Given the description of an element on the screen output the (x, y) to click on. 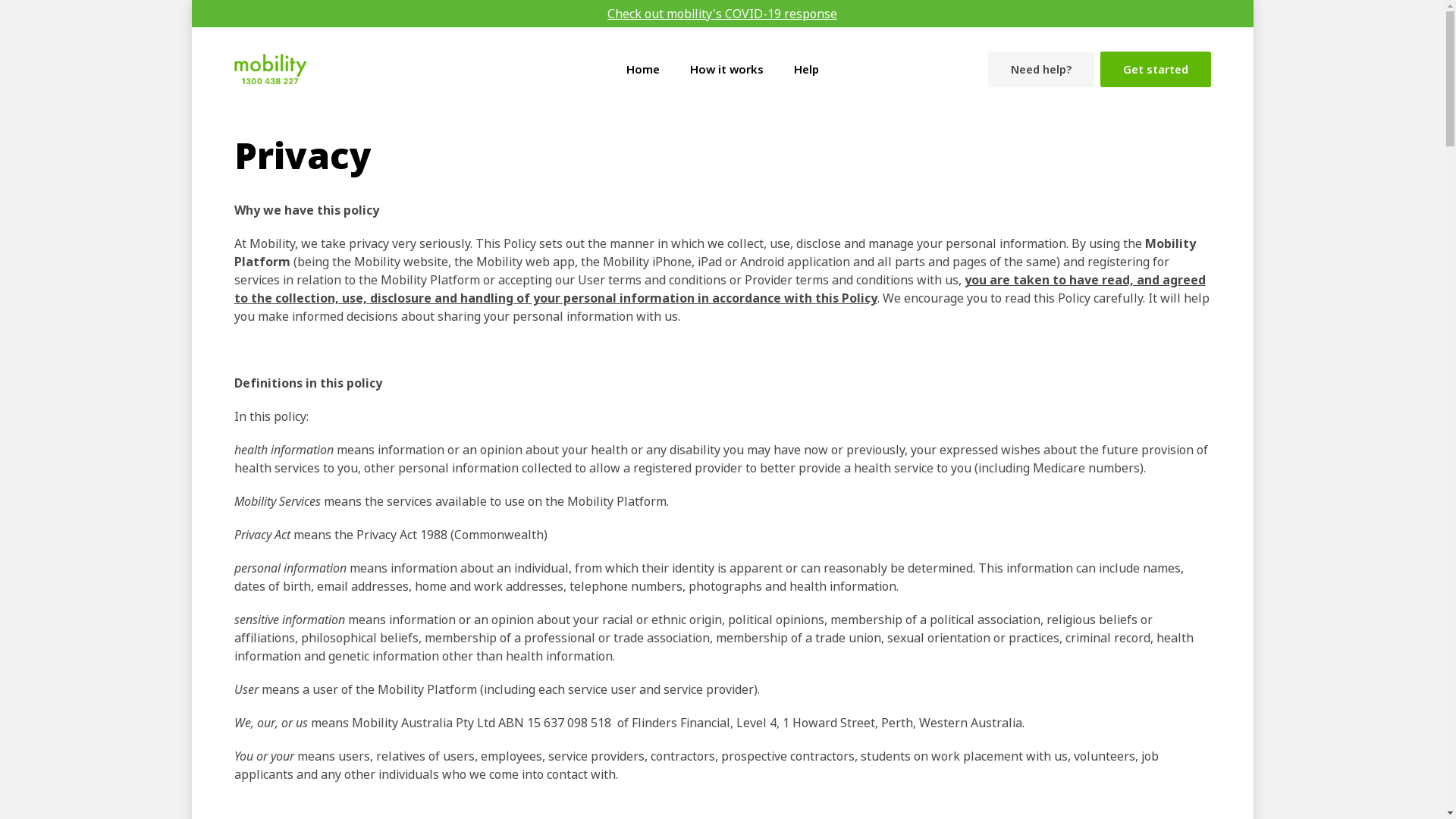
Help Element type: text (805, 68)
Get started Element type: text (1154, 69)
Home Element type: text (642, 68)
Check out mobility's COVID-19 response Element type: text (722, 13)
Need help? Element type: text (1040, 69)
How it works Element type: text (726, 68)
